Given the description of an element on the screen output the (x, y) to click on. 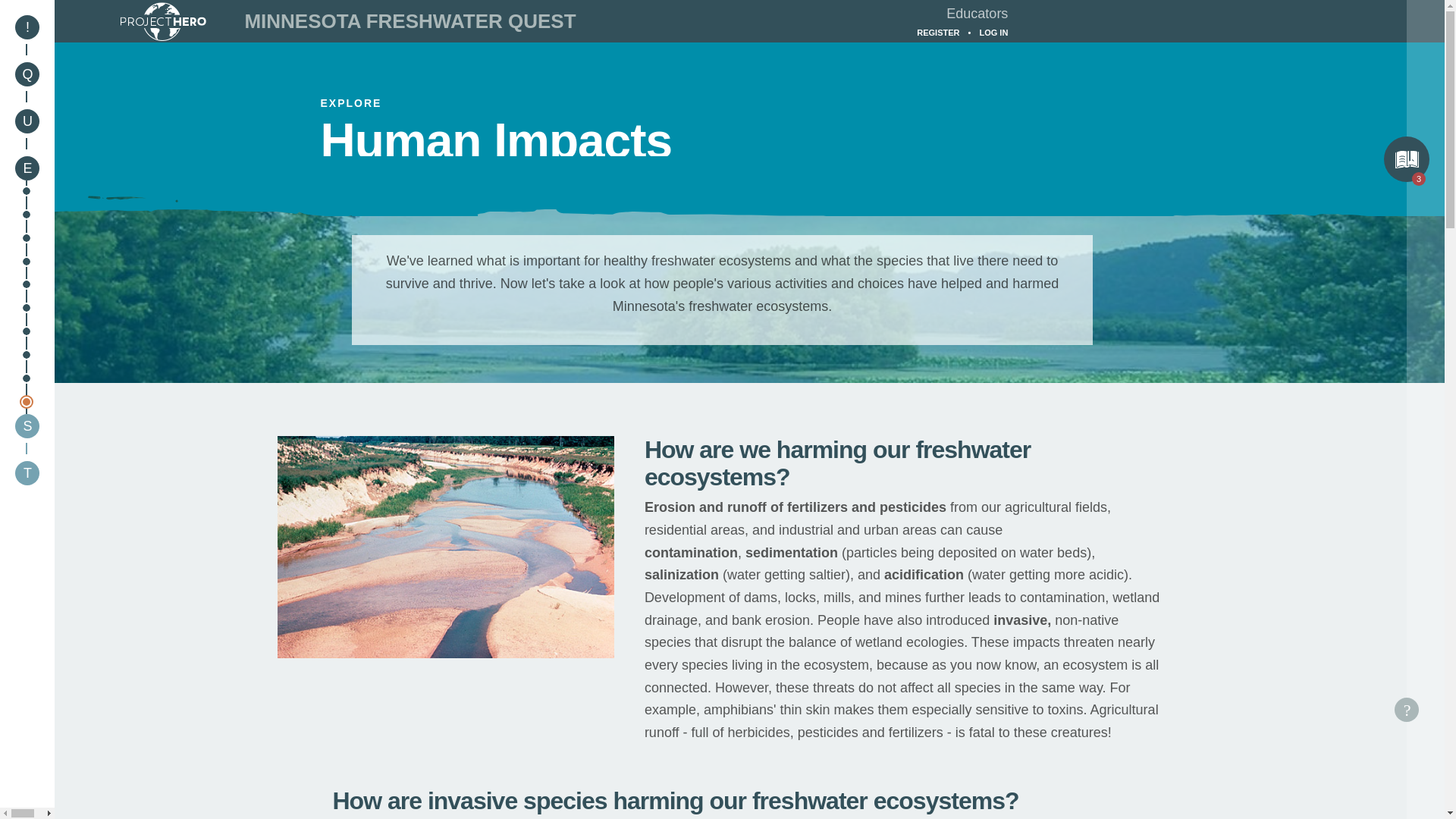
? (1406, 709)
LOG IN (992, 31)
MINNESOTA FRESHWATER QUEST (409, 20)
REGISTER (938, 31)
Minnesota Freshwater Quest (409, 20)
